Given the description of an element on the screen output the (x, y) to click on. 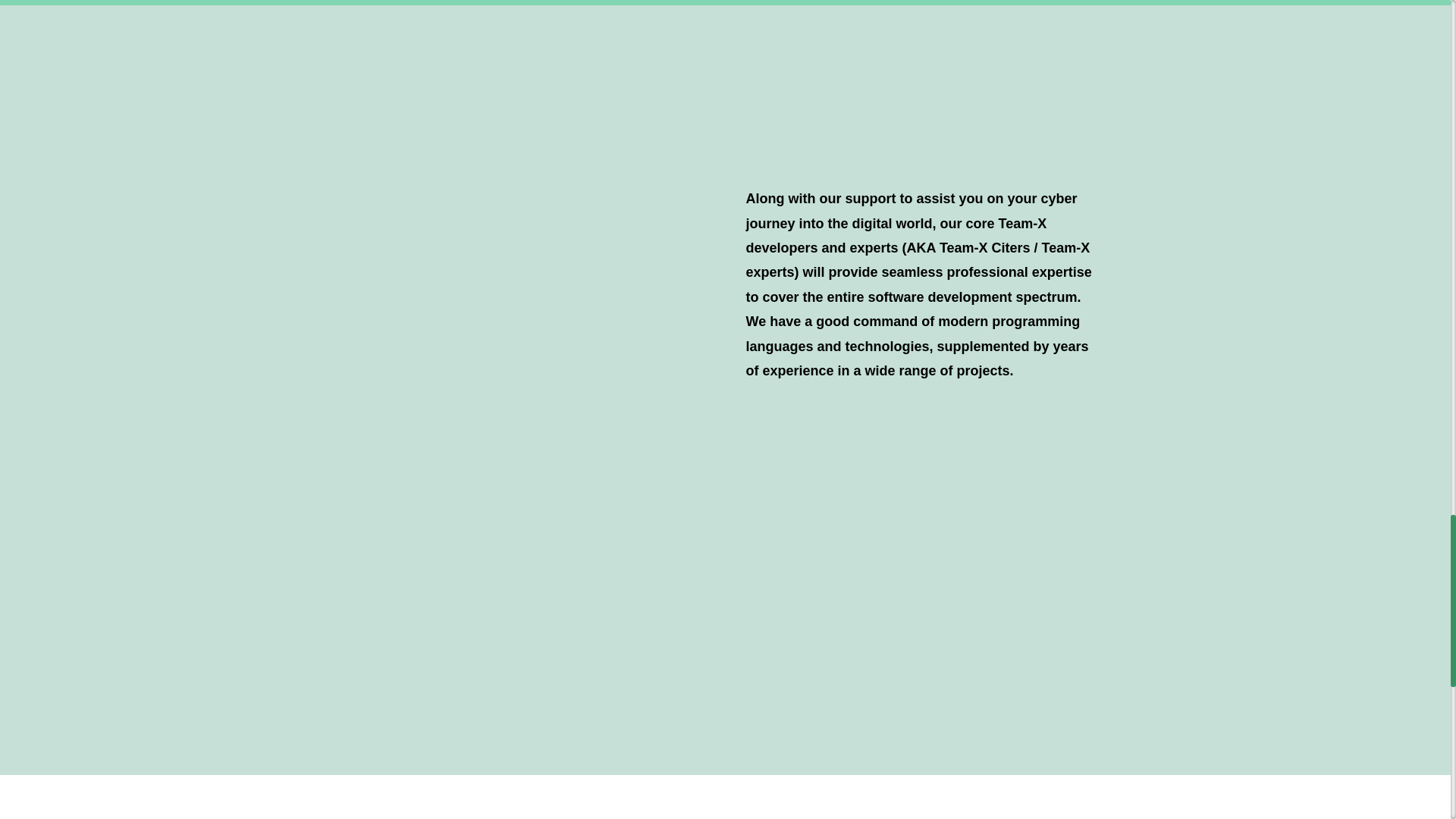
Type-3-min (520, 191)
